Given the description of an element on the screen output the (x, y) to click on. 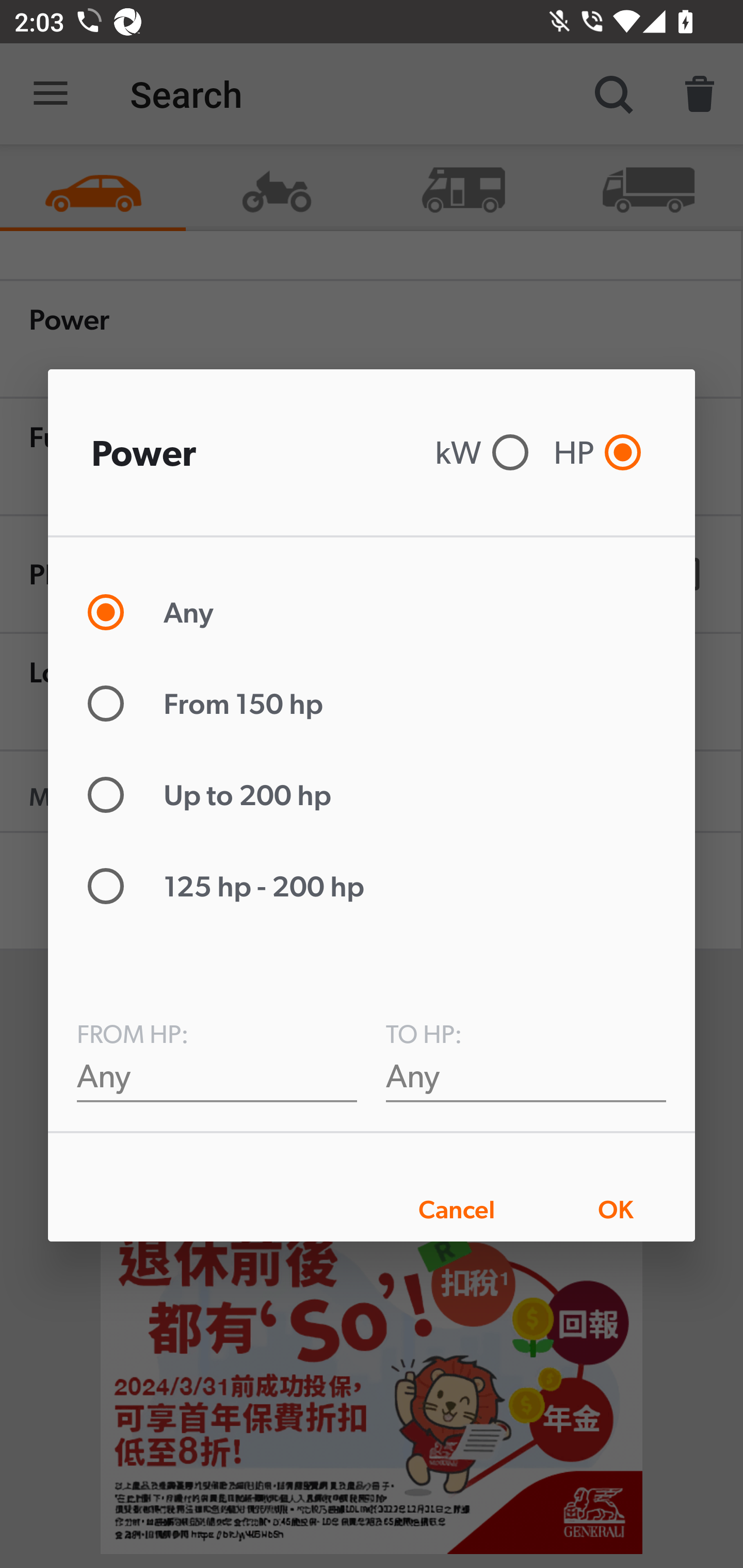
kW (486, 452)
HP (602, 452)
Any (159, 612)
From 150 hp (214, 702)
Up to 200 hp (218, 794)
125 hp - 200 hp (234, 885)
Any (216, 1075)
Any (525, 1075)
Cancel (456, 1208)
OK (615, 1208)
